Given the description of an element on the screen output the (x, y) to click on. 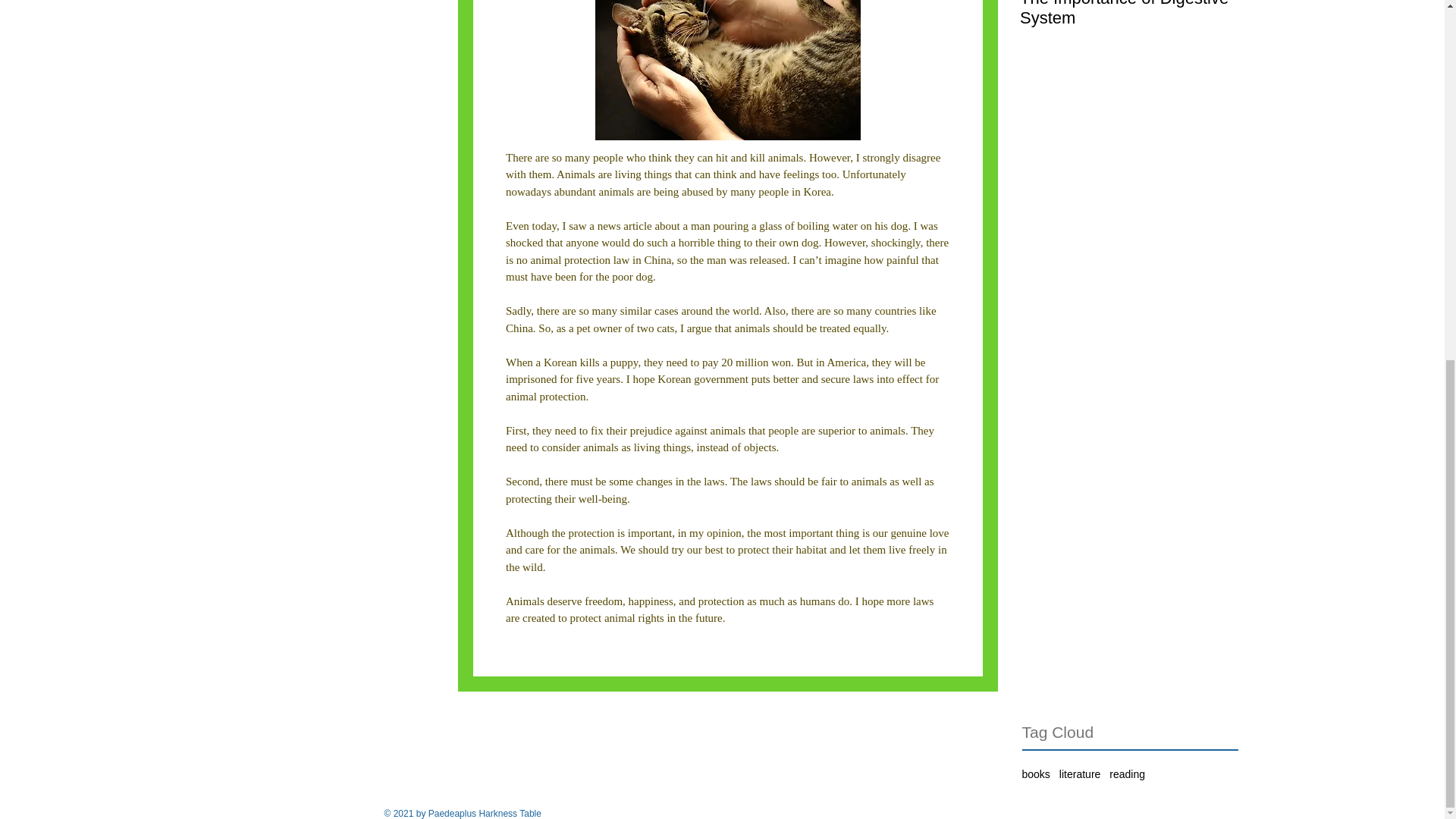
The Importance of Digestive System (1127, 13)
books (1035, 774)
literature (1079, 774)
The Importance of Digestive System (1127, 45)
The Importance of Digestive System (1127, 45)
reading (1126, 774)
